Given the description of an element on the screen output the (x, y) to click on. 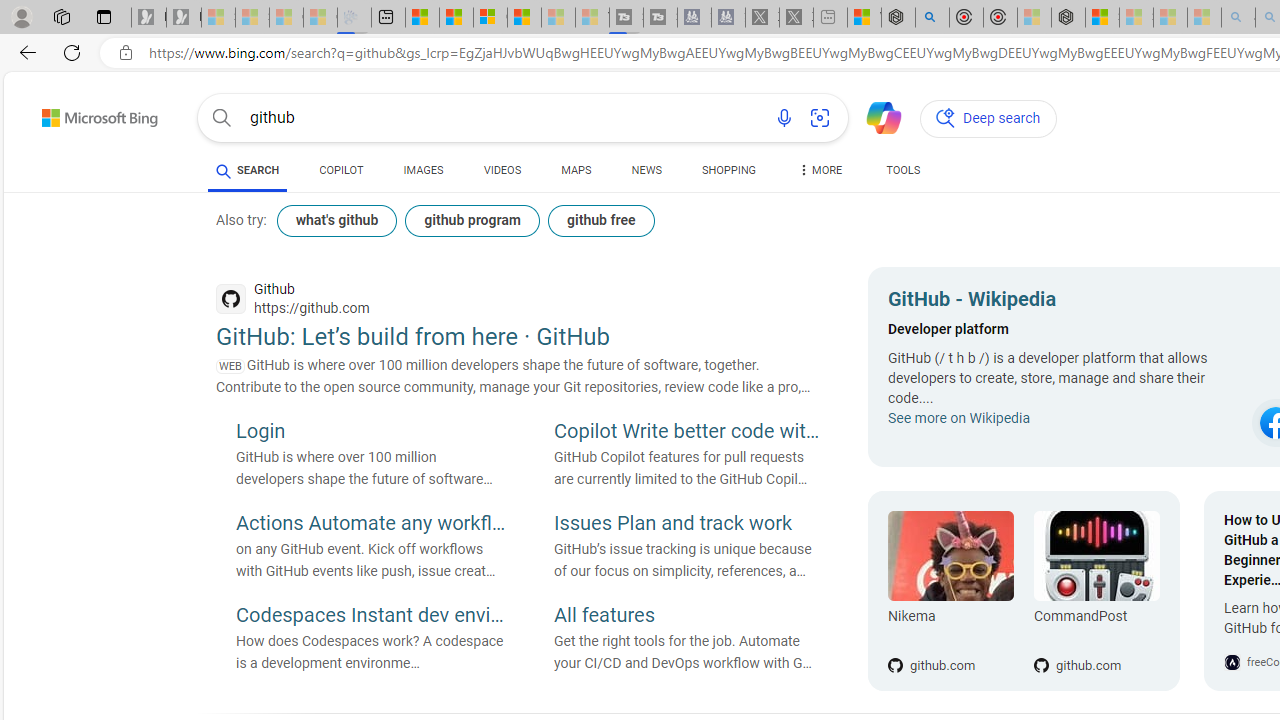
Workspaces (61, 16)
Personal Profile (21, 16)
New tab (388, 17)
TOOLS (903, 170)
Copilot Write better code with AI (689, 433)
Search using voice (783, 117)
NEWS (646, 170)
github program (471, 220)
SEARCH (247, 170)
Codespaces Instant dev environments (370, 616)
Wildlife - MSN (863, 17)
All features (689, 616)
